Given the description of an element on the screen output the (x, y) to click on. 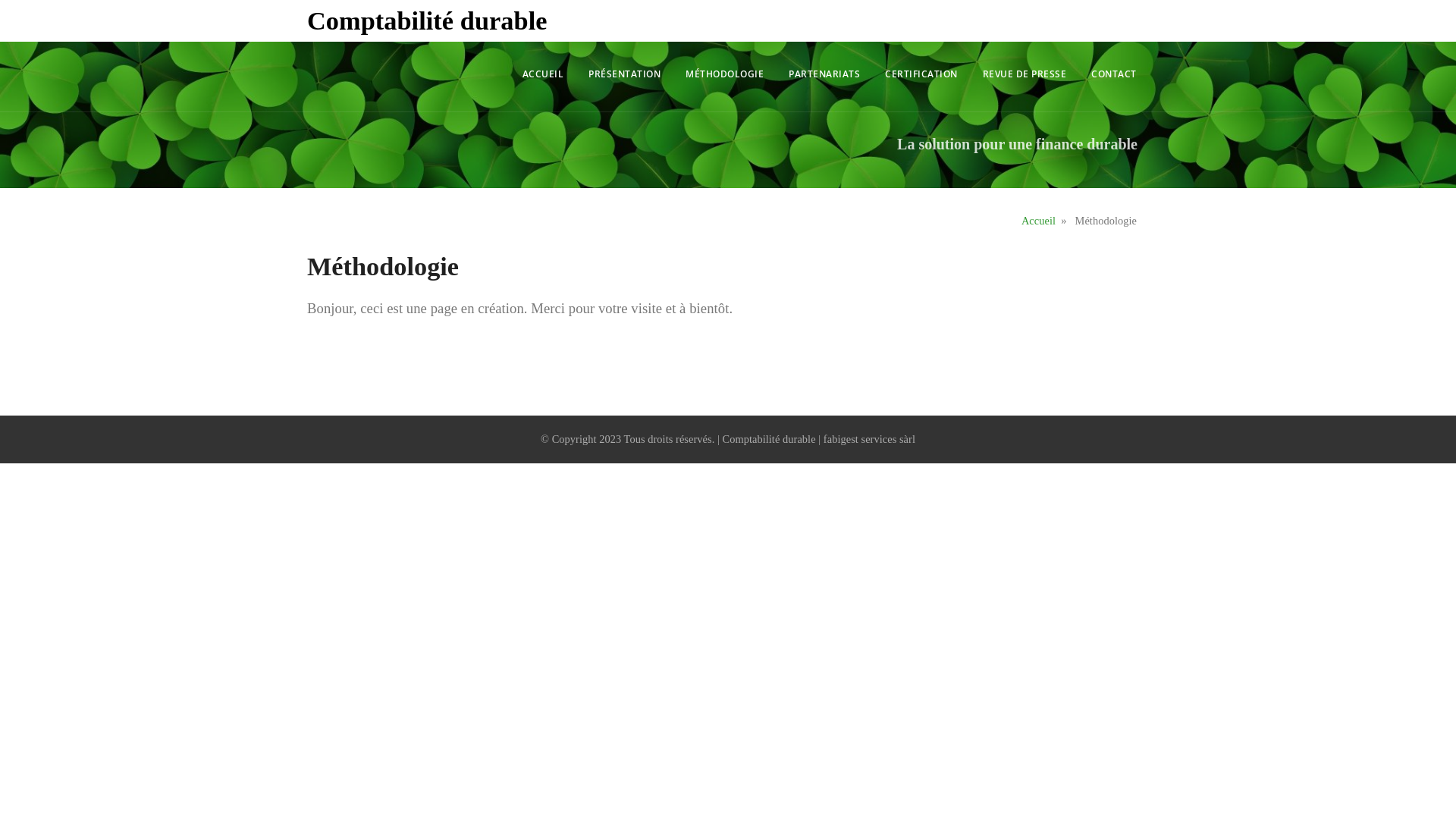
Accueil Element type: text (1038, 220)
CERTIFICATION Element type: text (920, 73)
ACCUEIL Element type: text (542, 73)
CONTACT Element type: text (1113, 73)
PARTENARIATS Element type: text (824, 73)
REVUE DE PRESSE Element type: text (1024, 73)
